Given the description of an element on the screen output the (x, y) to click on. 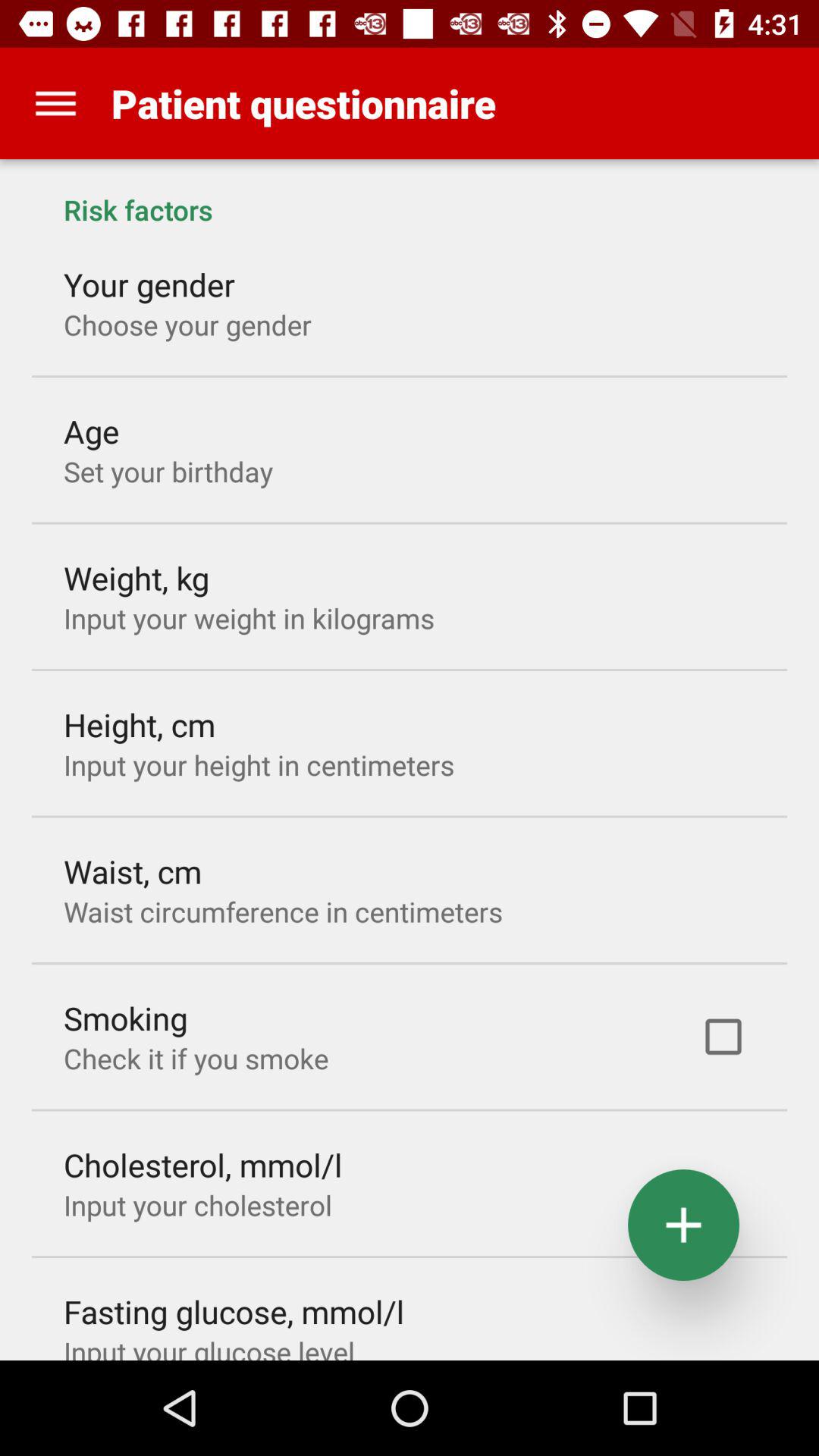
turn off item above risk factors item (55, 103)
